Given the description of an element on the screen output the (x, y) to click on. 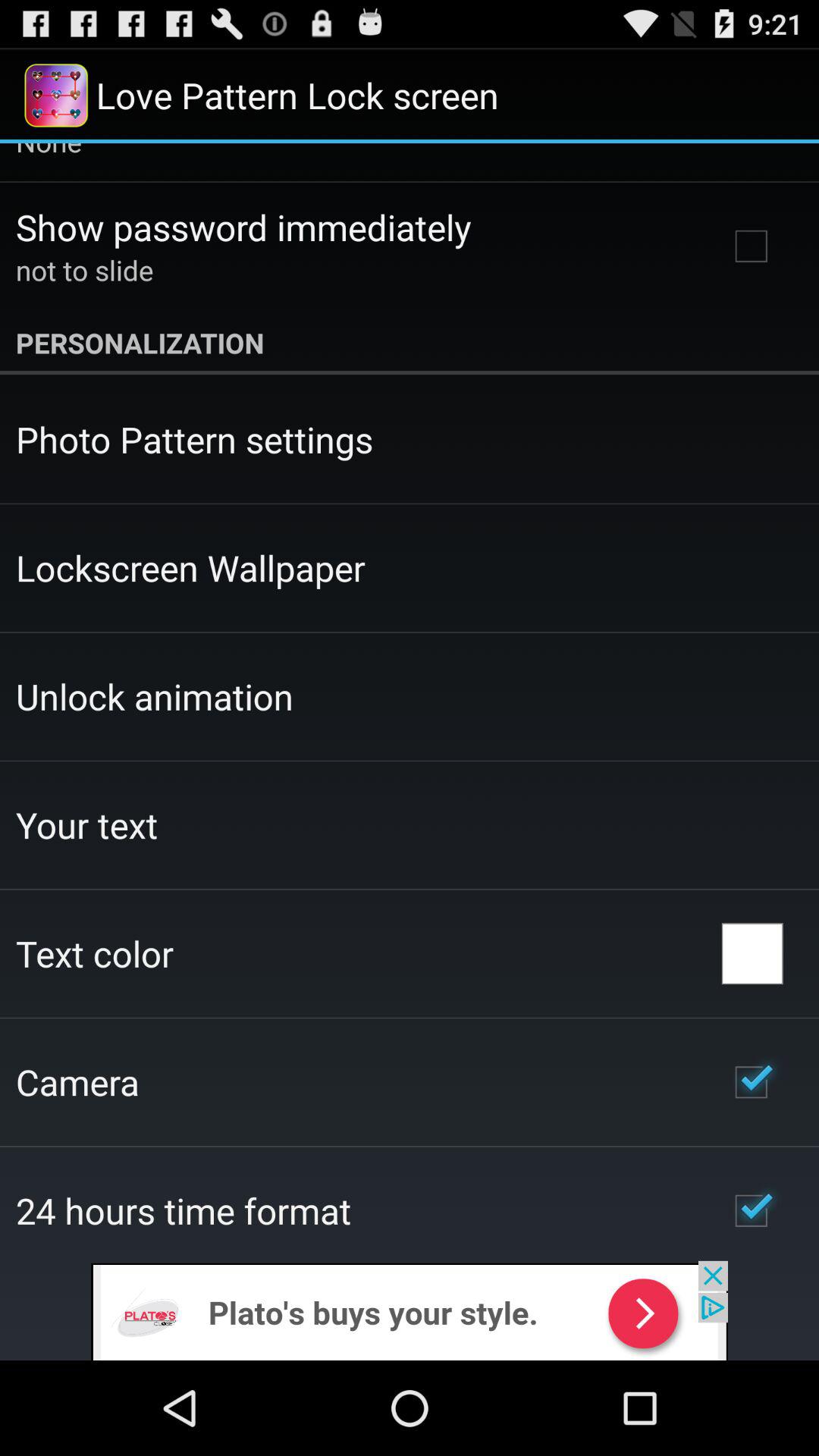
remove the add (409, 1310)
